Given the description of an element on the screen output the (x, y) to click on. 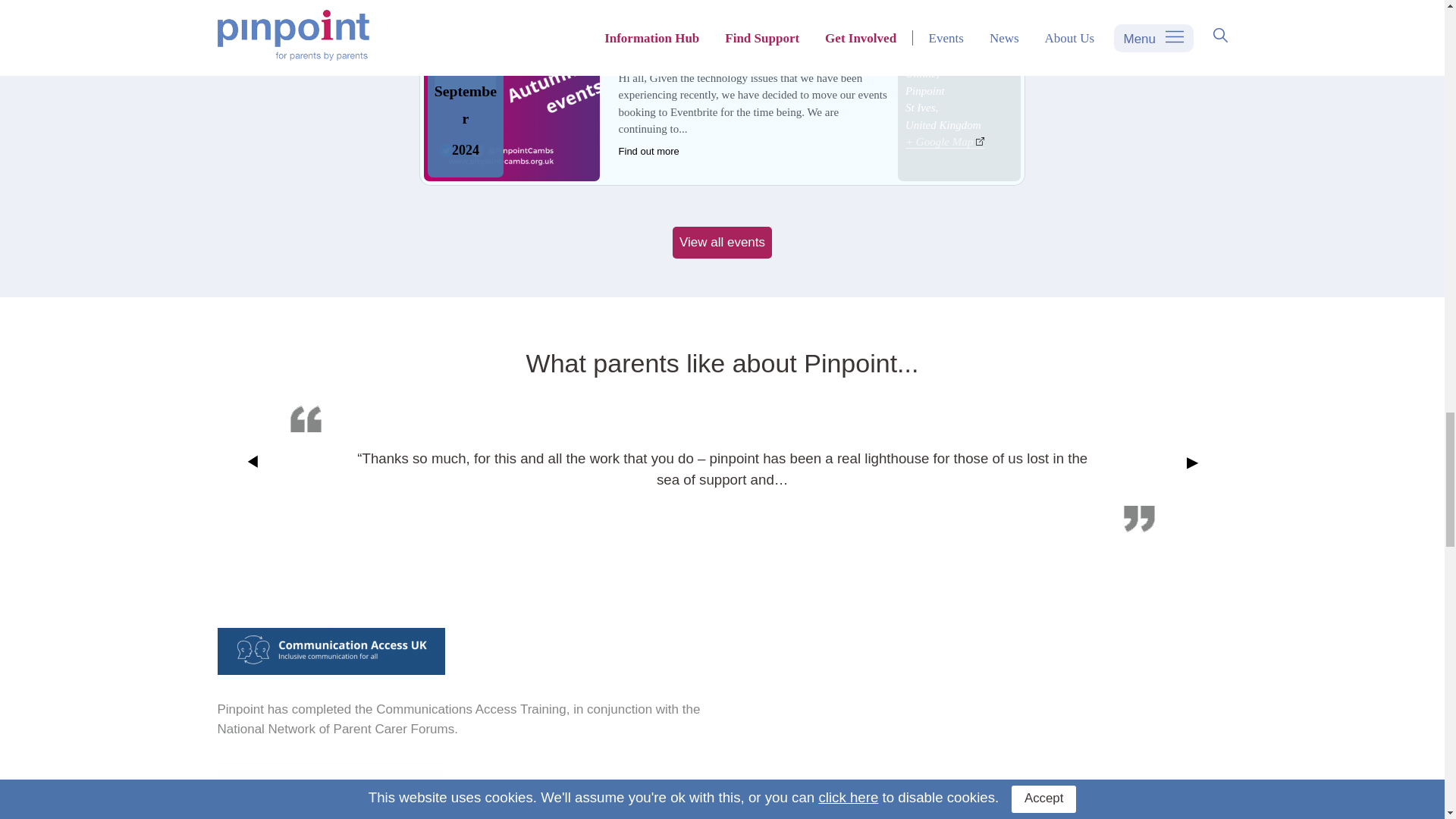
Click to view a Google Map (944, 141)
